Given the description of an element on the screen output the (x, y) to click on. 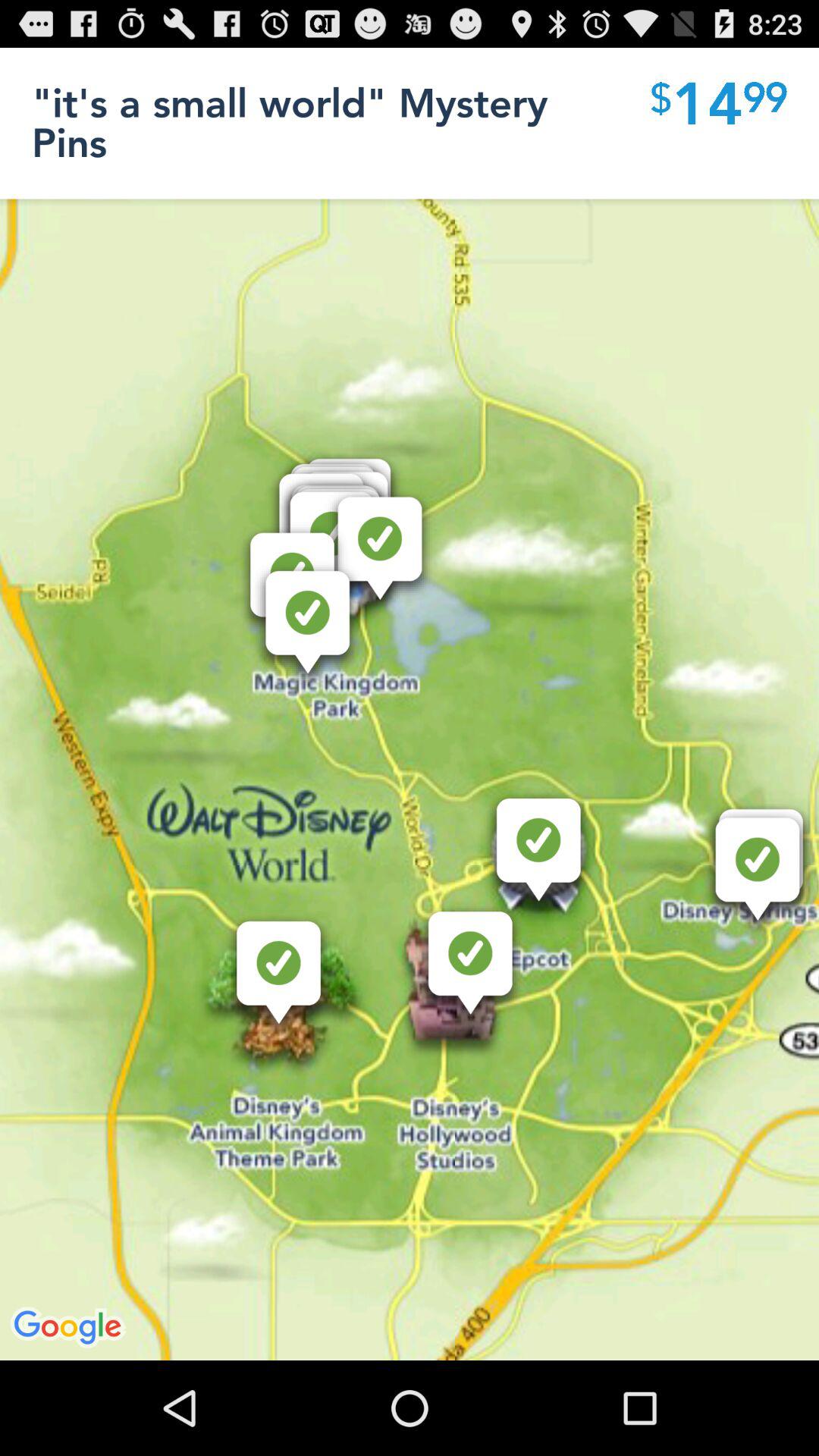
launch icon at the center (409, 703)
